Given the description of an element on the screen output the (x, y) to click on. 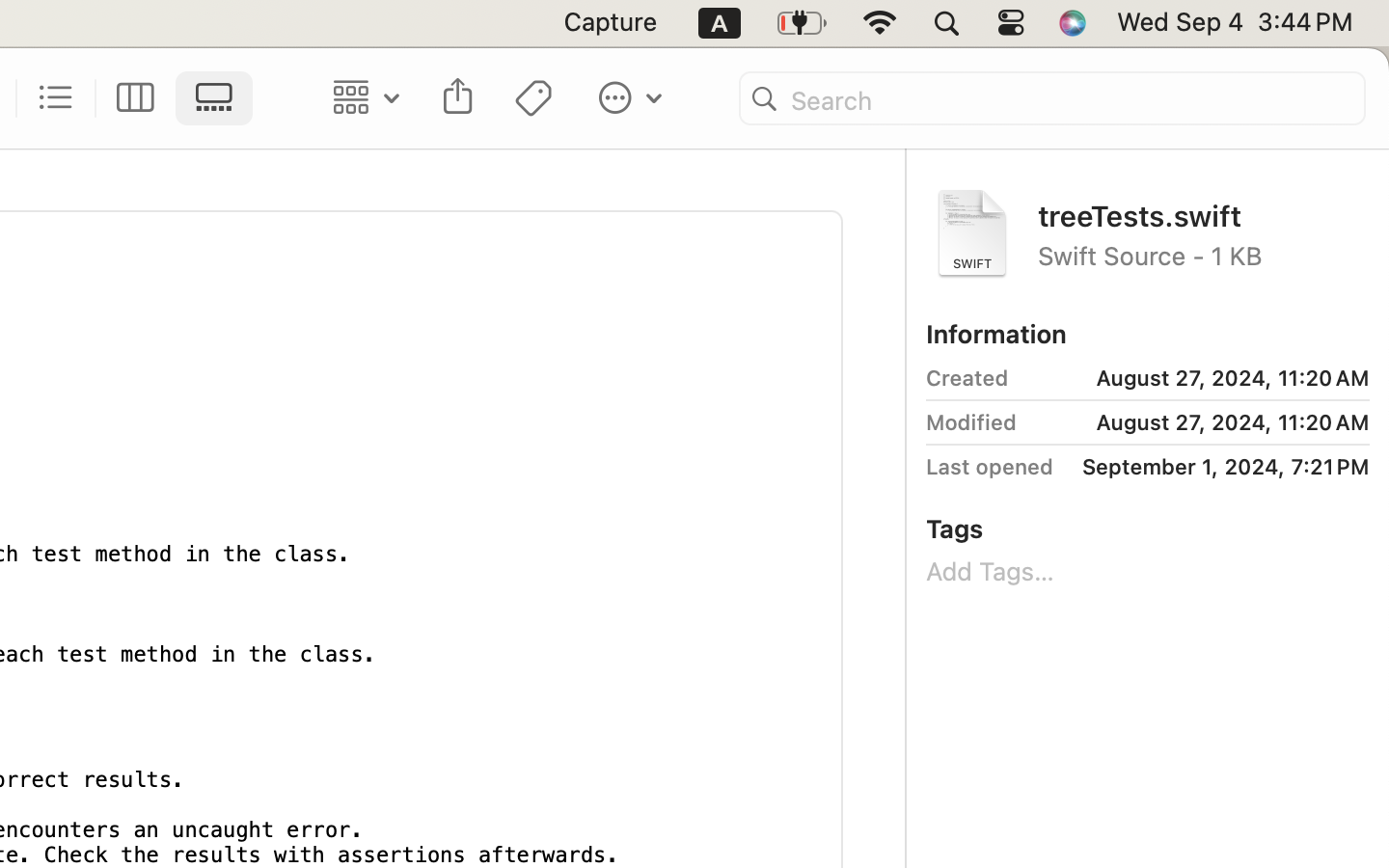
Information Element type: AXStaticText (996, 333)
Modified Element type: AXStaticText (971, 421)
treeTests.swift Element type: AXStaticText (1203, 213)
0 Element type: AXRadioButton (56, 97)
Created Element type: AXStaticText (967, 377)
